Given the description of an element on the screen output the (x, y) to click on. 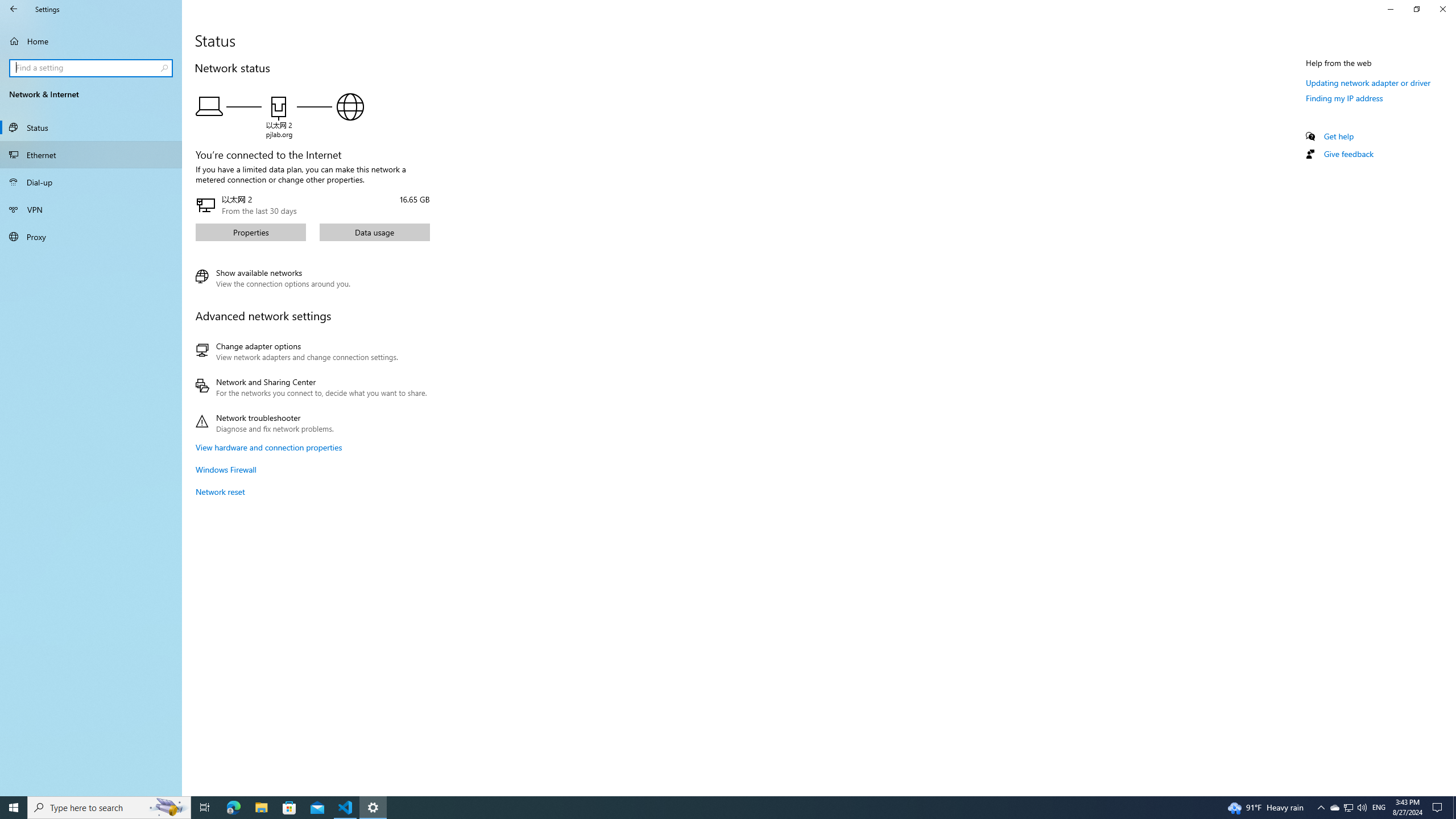
Proxy (91, 236)
Dial-up (91, 181)
Minimize Settings (1390, 9)
Network and Sharing Center (311, 387)
Close Settings (1442, 9)
Windows Firewall (226, 469)
Get help (1338, 136)
Running applications (706, 807)
Finding my IP address (1344, 97)
